Given the description of an element on the screen output the (x, y) to click on. 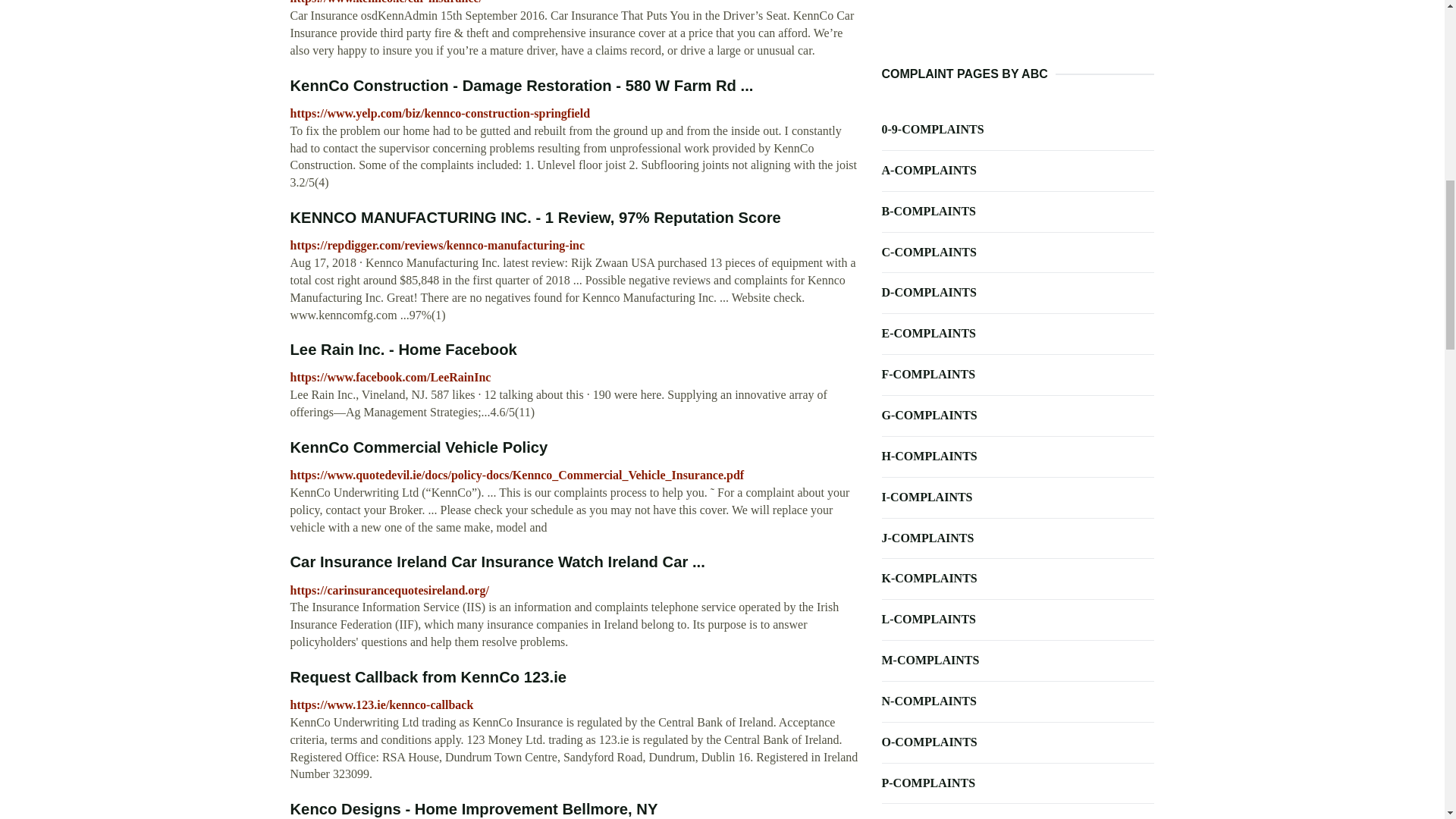
Lee Rain Inc. - Home Facebook (402, 349)
Kenco Designs - Home Improvement Bellmore, NY (473, 808)
KennCo Construction - Damage Restoration - 580 W Farm Rd ... (520, 85)
Car Insurance Ireland Car Insurance Watch Ireland Car ... (496, 561)
KennCo Commercial Vehicle Policy (418, 446)
Request Callback from KennCo 123.ie (427, 677)
